Given the description of an element on the screen output the (x, y) to click on. 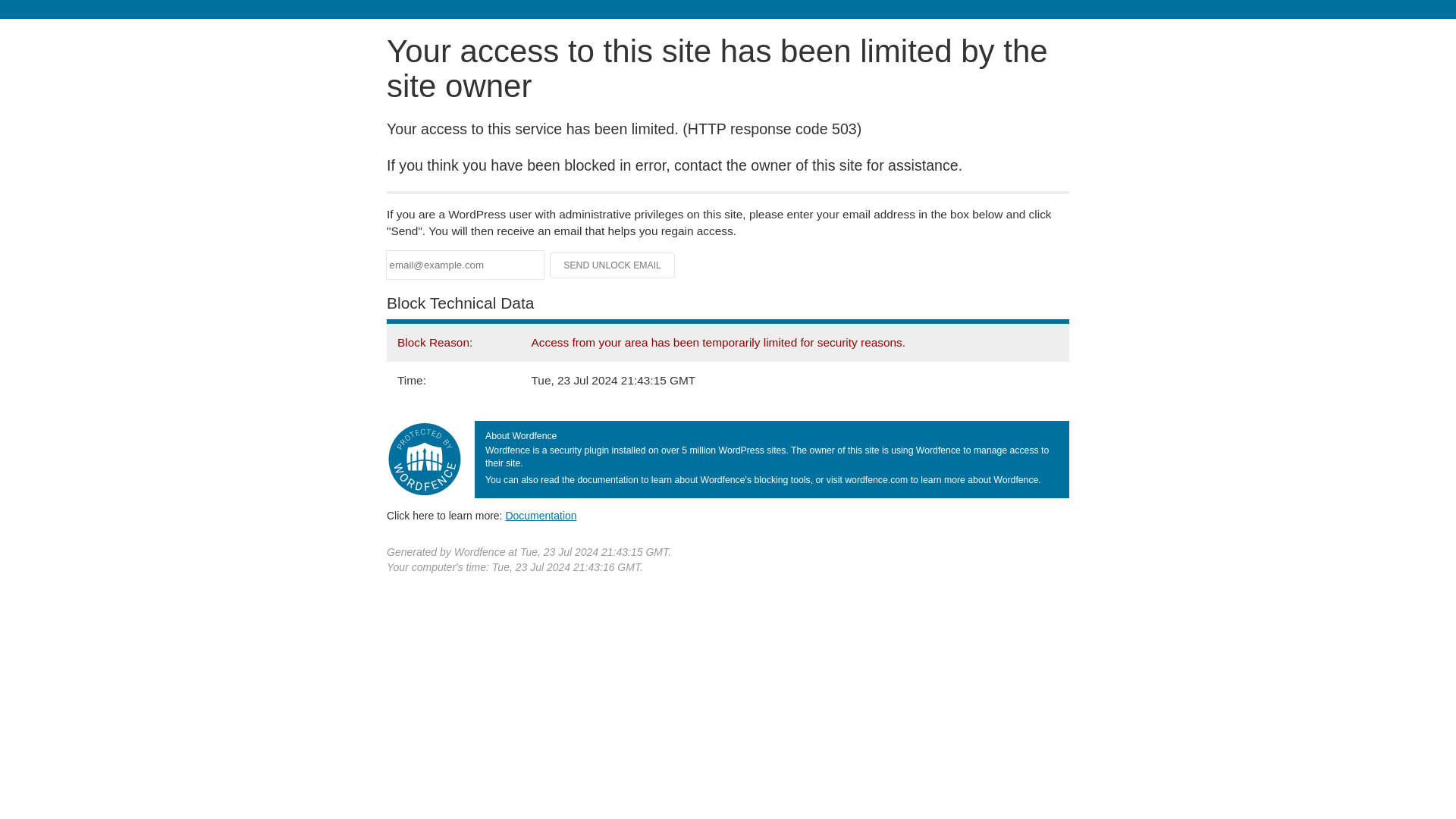
Send Unlock Email (612, 265)
Send Unlock Email (612, 265)
Documentation (540, 515)
